Given the description of an element on the screen output the (x, y) to click on. 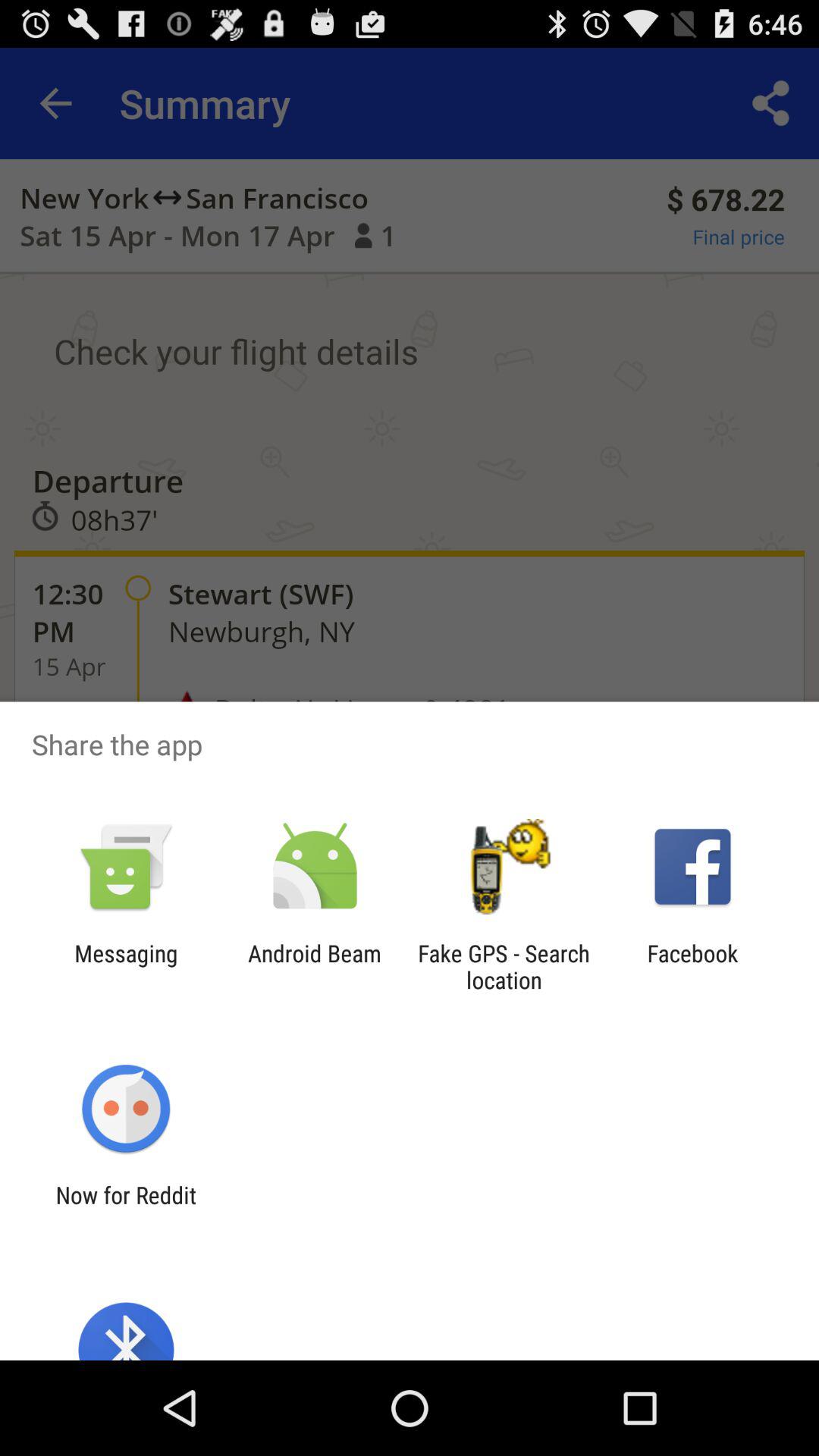
tap the messaging app (126, 966)
